Given the description of an element on the screen output the (x, y) to click on. 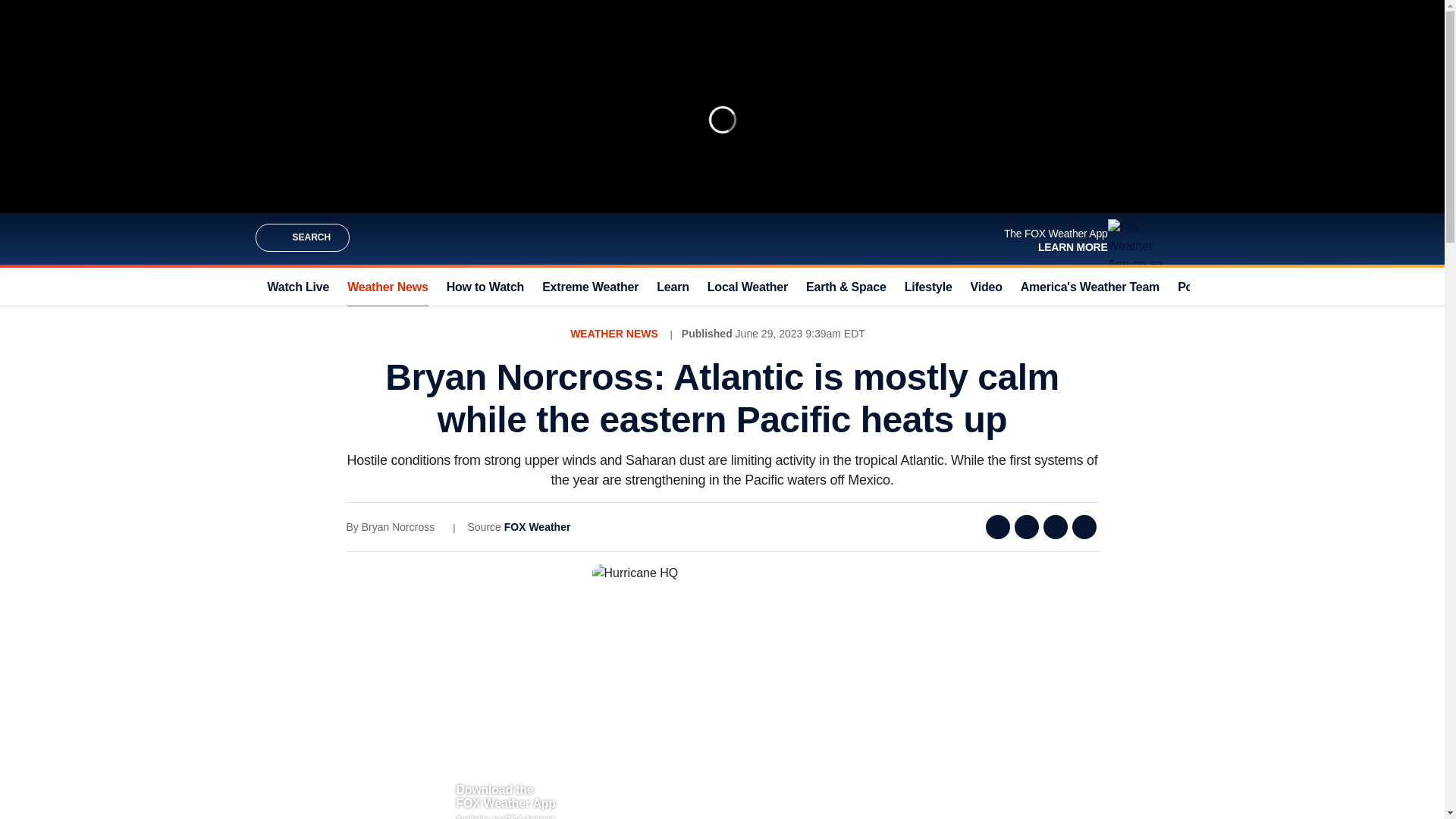
Extreme Weather (590, 286)
Twitter (1026, 526)
FOX Weather (536, 526)
WEATHER NEWS (614, 333)
Copy Link (1083, 526)
America's Weather Team (1089, 286)
Facebook (997, 526)
Lifestyle (928, 286)
How to Watch (485, 286)
Email (1055, 526)
